Given the description of an element on the screen output the (x, y) to click on. 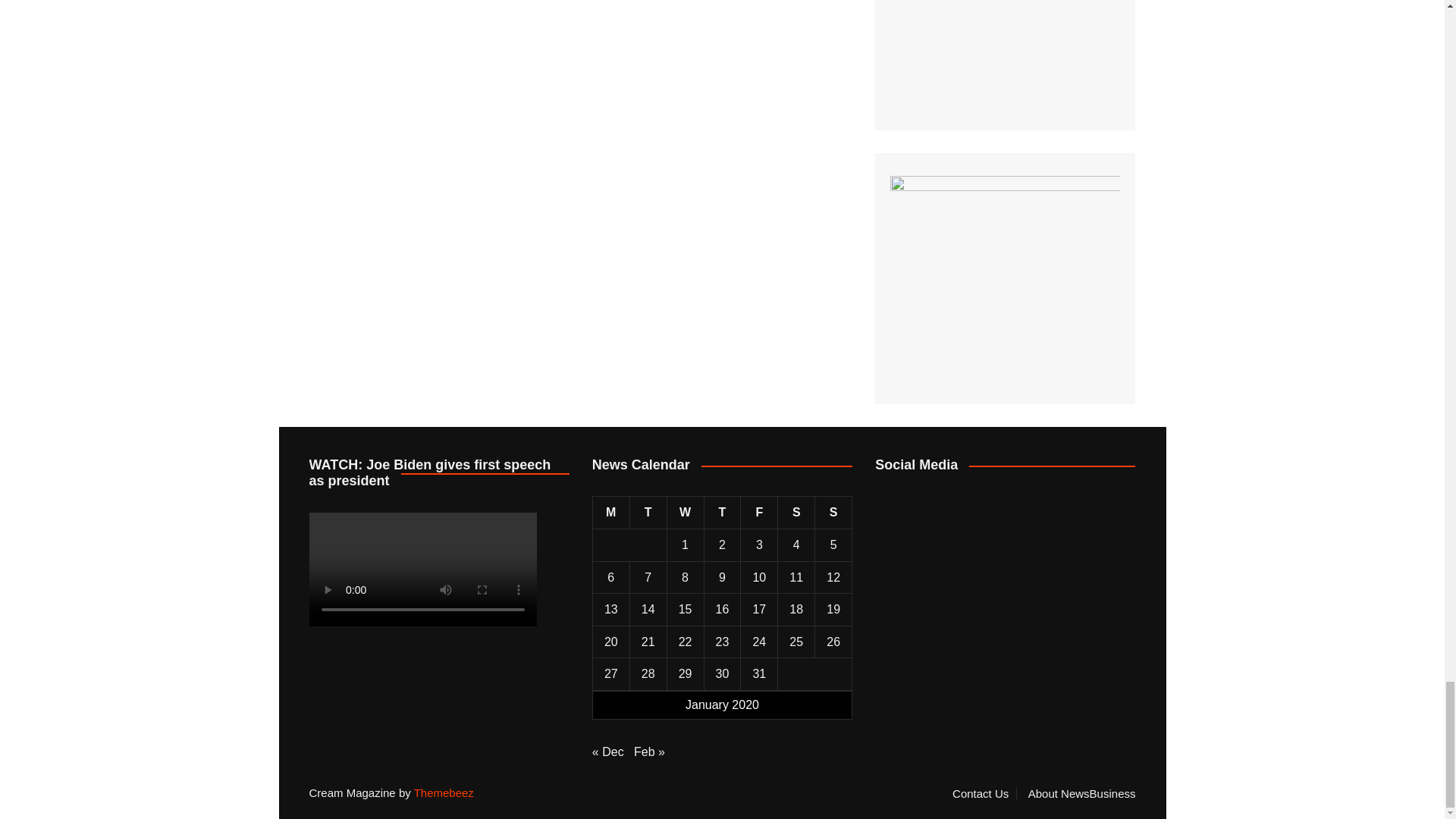
Wednesday (684, 512)
Tuesday (647, 512)
Monday (610, 512)
